Given the description of an element on the screen output the (x, y) to click on. 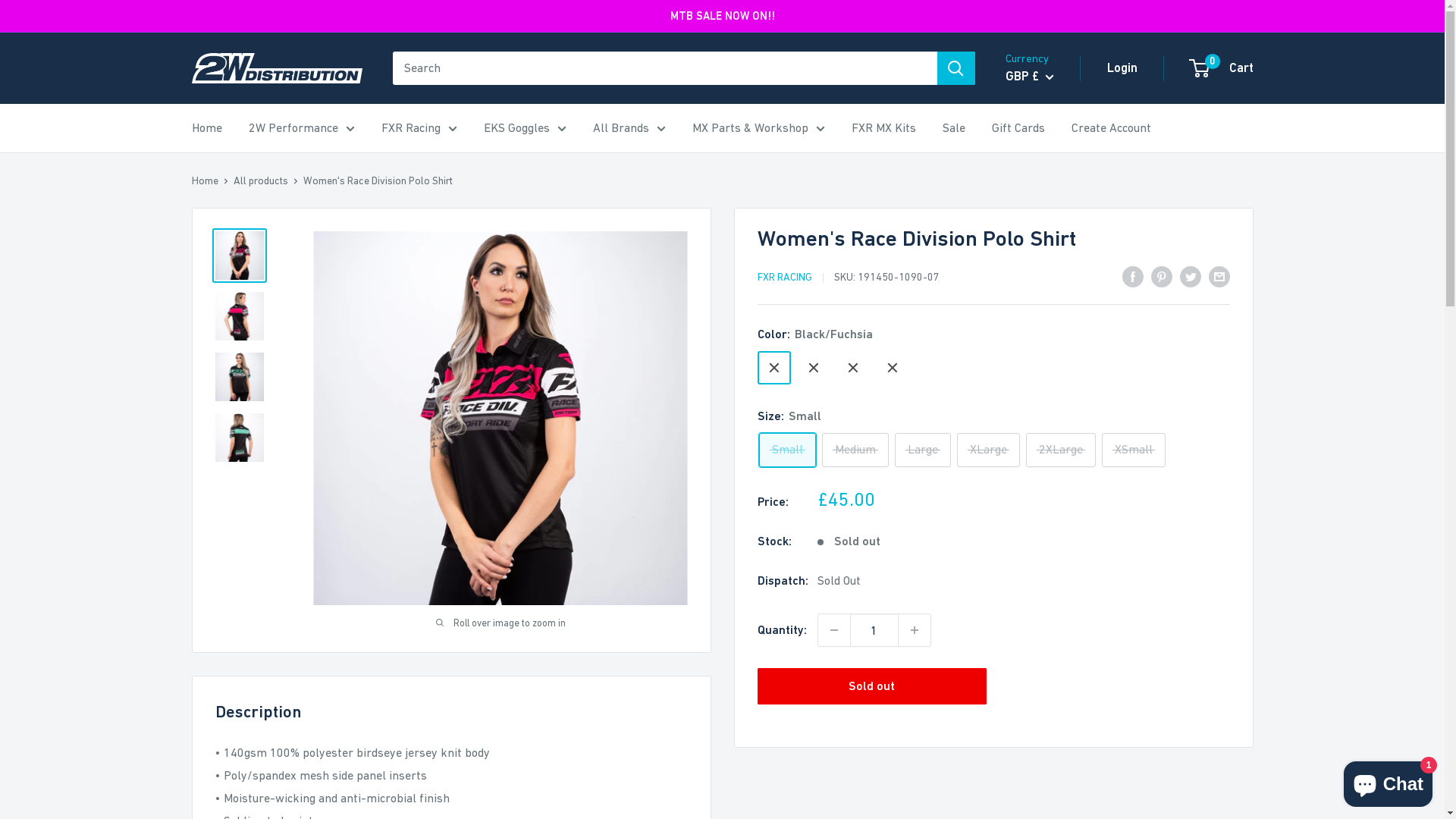
JPY Element type: text (1049, 392)
Sale Element type: text (952, 127)
2W Distribution Element type: text (276, 68)
CZK Element type: text (1049, 230)
Home Element type: text (206, 127)
EUR Element type: text (1049, 276)
FXR Racing Element type: text (418, 127)
Decrease quantity by 1 Element type: hover (833, 630)
Shopify online store chat Element type: hover (1388, 780)
NOK Element type: text (1049, 416)
NZD Element type: text (1049, 438)
PLN Element type: text (1049, 462)
AUD Element type: text (1049, 137)
ILS Element type: text (1049, 346)
EKS Goggles Element type: text (524, 127)
FXR RACING Element type: text (783, 276)
All Brands Element type: text (629, 127)
CHF Element type: text (1049, 207)
Home Element type: text (204, 180)
Increase quantity by 1 Element type: hover (913, 630)
BGN Element type: text (1049, 161)
RON Element type: text (1049, 485)
ISK Element type: text (1049, 369)
Sold out Element type: text (871, 686)
Gift Cards Element type: text (1017, 127)
2W Performance Element type: text (301, 127)
MX Parts & Workshop Element type: text (757, 127)
USD Element type: text (1049, 531)
All products Element type: text (260, 180)
MTB SALE NOW ON!! Element type: text (722, 15)
0
Cart Element type: text (1221, 68)
FXR MX Kits Element type: text (882, 127)
Create Account Element type: text (1110, 127)
DKK Element type: text (1049, 253)
Login Element type: text (1122, 68)
CAD Element type: text (1049, 184)
GBP Element type: text (1049, 300)
HUF Element type: text (1049, 323)
SEK Element type: text (1049, 508)
